Given the description of an element on the screen output the (x, y) to click on. 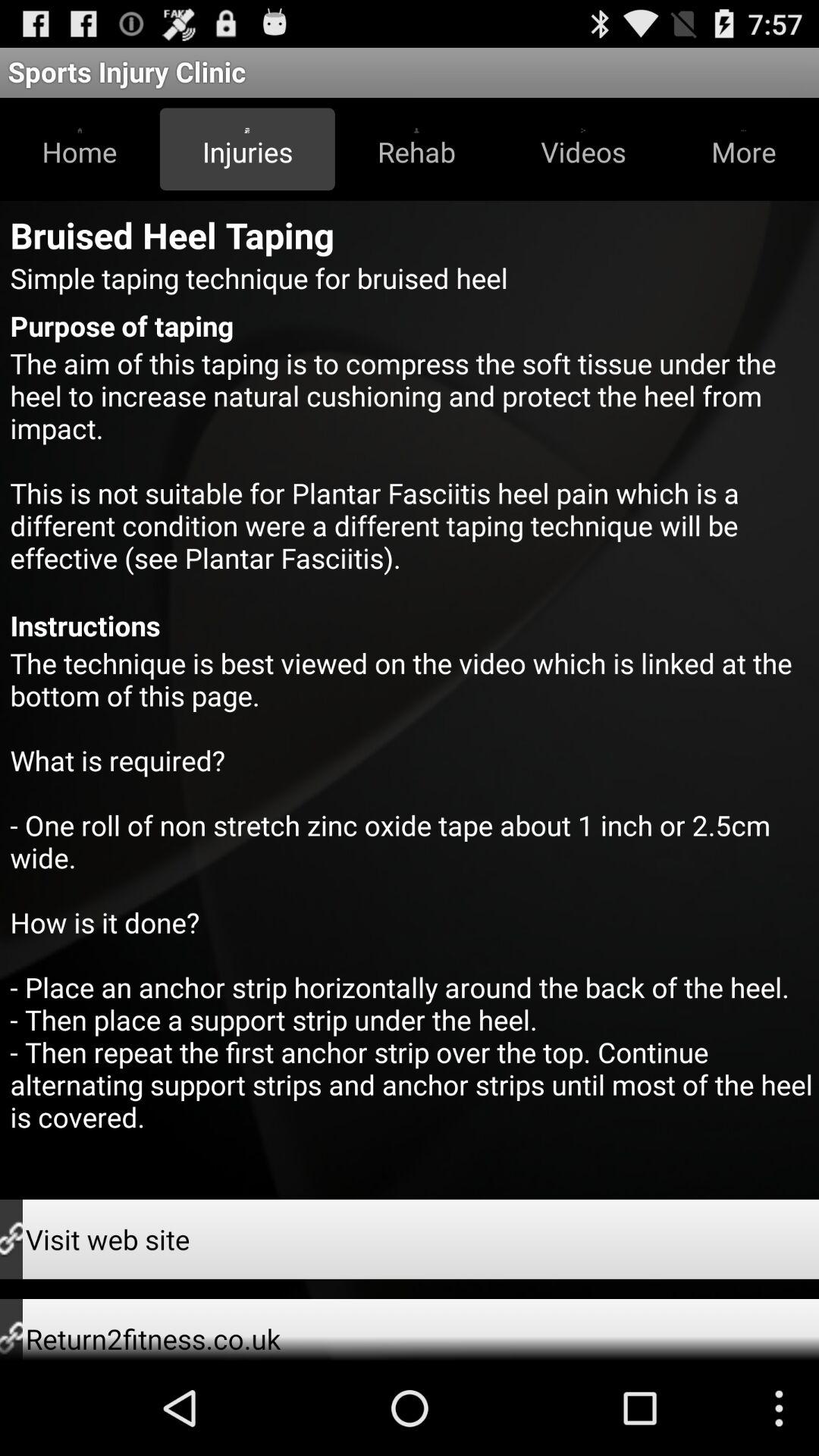
swipe to the videos icon (583, 149)
